Given the description of an element on the screen output the (x, y) to click on. 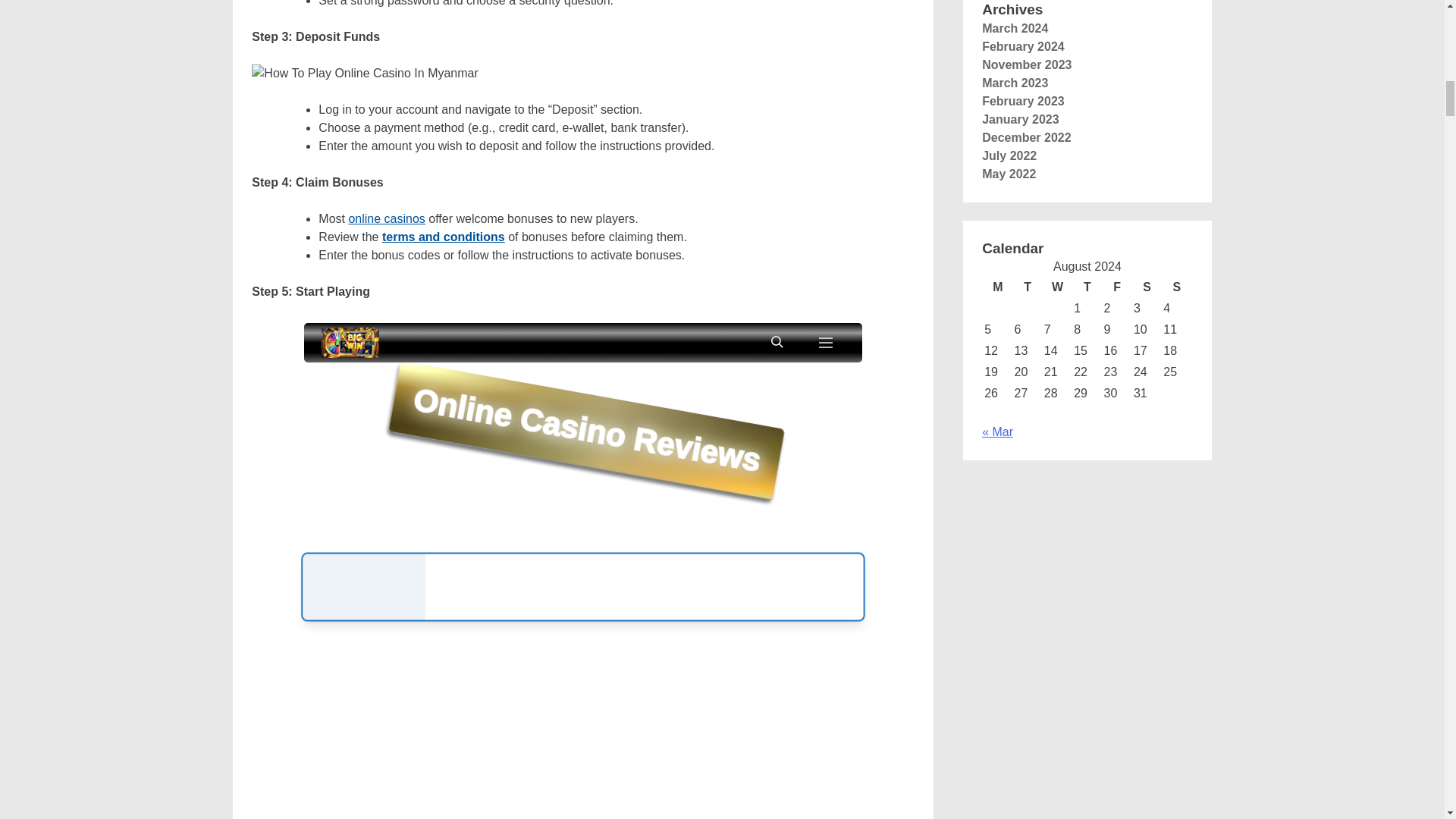
How To Play Online Casino In Myanmar (365, 73)
online casinos (386, 218)
terms and conditions (443, 236)
Terms And Conditions (443, 236)
online casinos (386, 218)
